Given the description of an element on the screen output the (x, y) to click on. 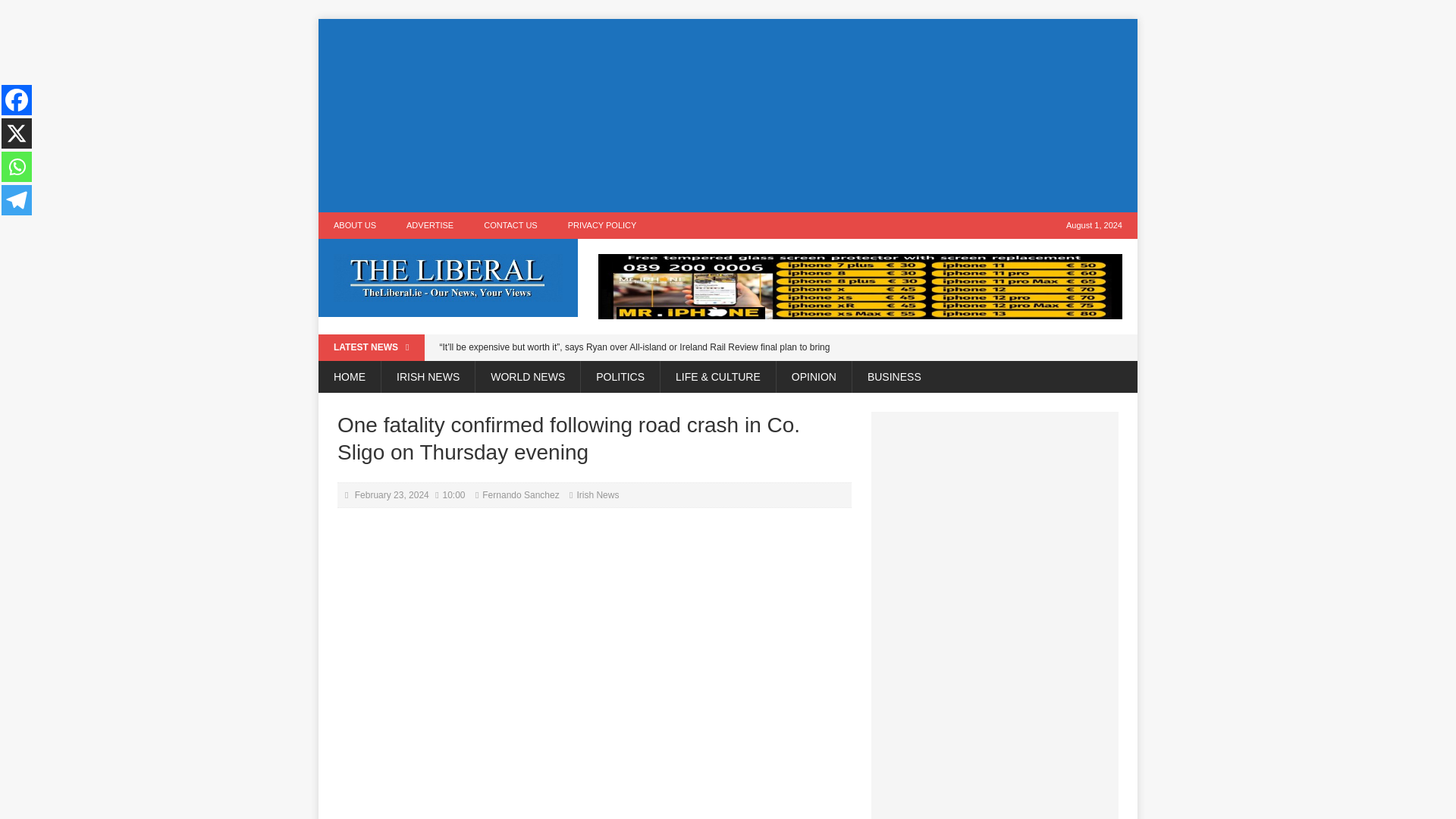
ABOUT US (354, 225)
POLITICS (619, 377)
10:00 (453, 494)
IRISH NEWS (427, 377)
TheLiberal.ie - Our News, Your Views (448, 277)
OPINION (813, 377)
ADVERTISE (429, 225)
X (16, 132)
HOME (349, 377)
CONTACT US (510, 225)
WORLD NEWS (526, 377)
Fernando Sanchez (520, 494)
Irish News (597, 494)
Whatsapp (16, 166)
Search (37, 11)
